Given the description of an element on the screen output the (x, y) to click on. 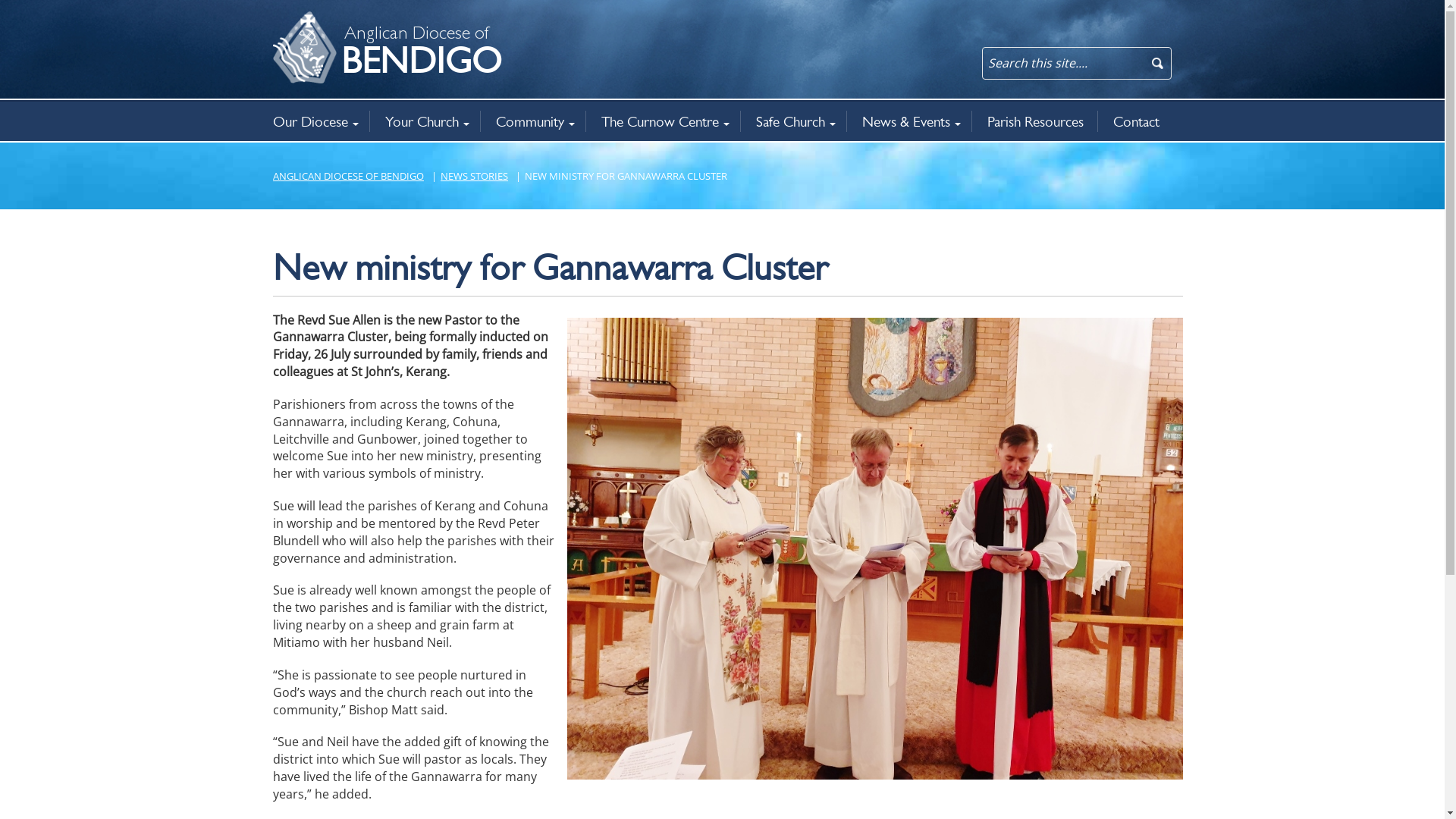
Search Element type: text (27, 12)
NEWS STORIES Element type: text (475, 175)
News & Events Element type: text (910, 121)
Our Diocese Element type: text (321, 121)
Safe Church Element type: text (795, 121)
The Curnow Centre Element type: text (664, 121)
Contact Element type: text (1137, 121)
Parish Resources Element type: text (1036, 121)
ANGLICAN DIOCESE OF BENDIGO Element type: text (350, 175)
Your Church Element type: text (426, 121)
Anglican Diocese of
BENDIGO Element type: text (291, 19)
Community Element type: text (534, 121)
